Given the description of an element on the screen output the (x, y) to click on. 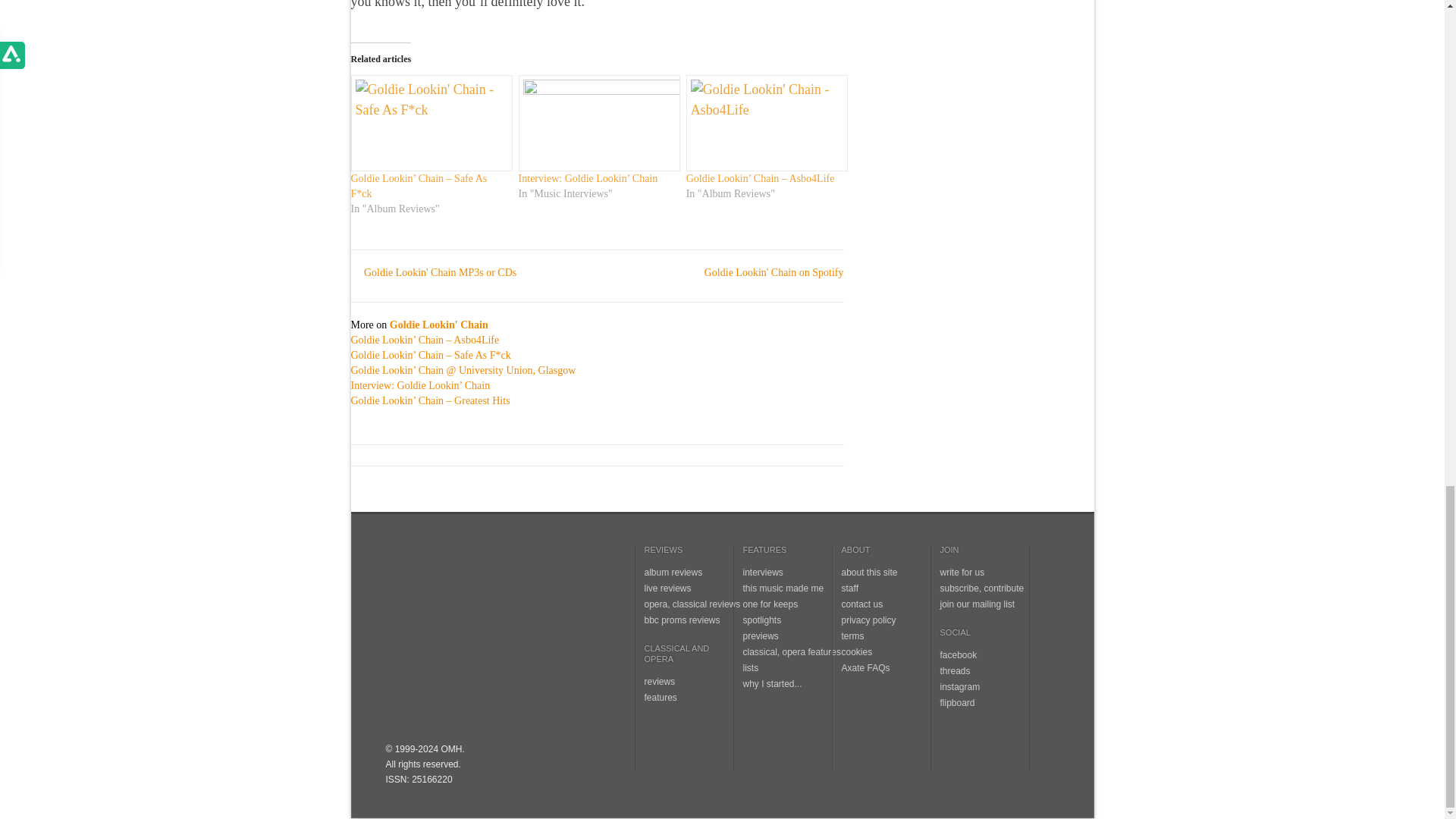
Goldie Lookin' Chain on Spotify (766, 272)
Goldie Lookin' Chain (438, 324)
Goldie Lookin' Chain MP3s or CDs (433, 272)
